Given the description of an element on the screen output the (x, y) to click on. 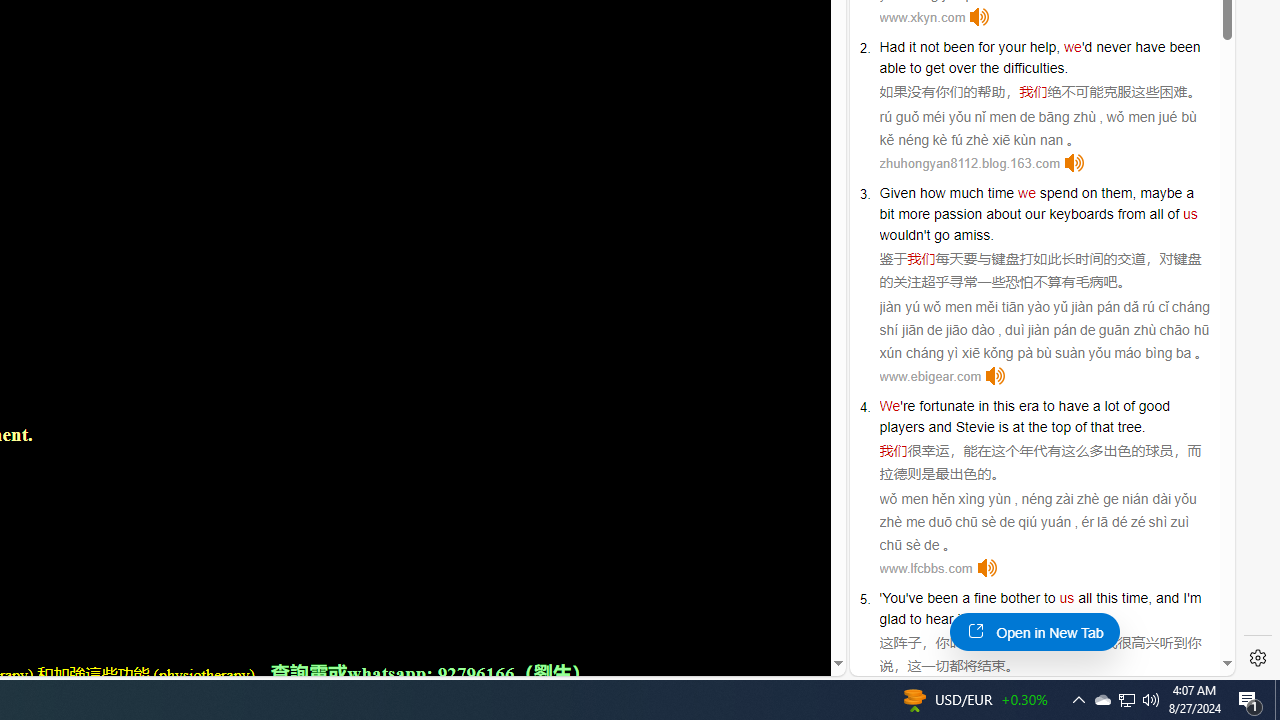
Given (897, 192)
I (1184, 597)
Click to listen (986, 568)
in (983, 405)
You (893, 597)
all (1085, 597)
good (1153, 405)
